Given the description of an element on the screen output the (x, y) to click on. 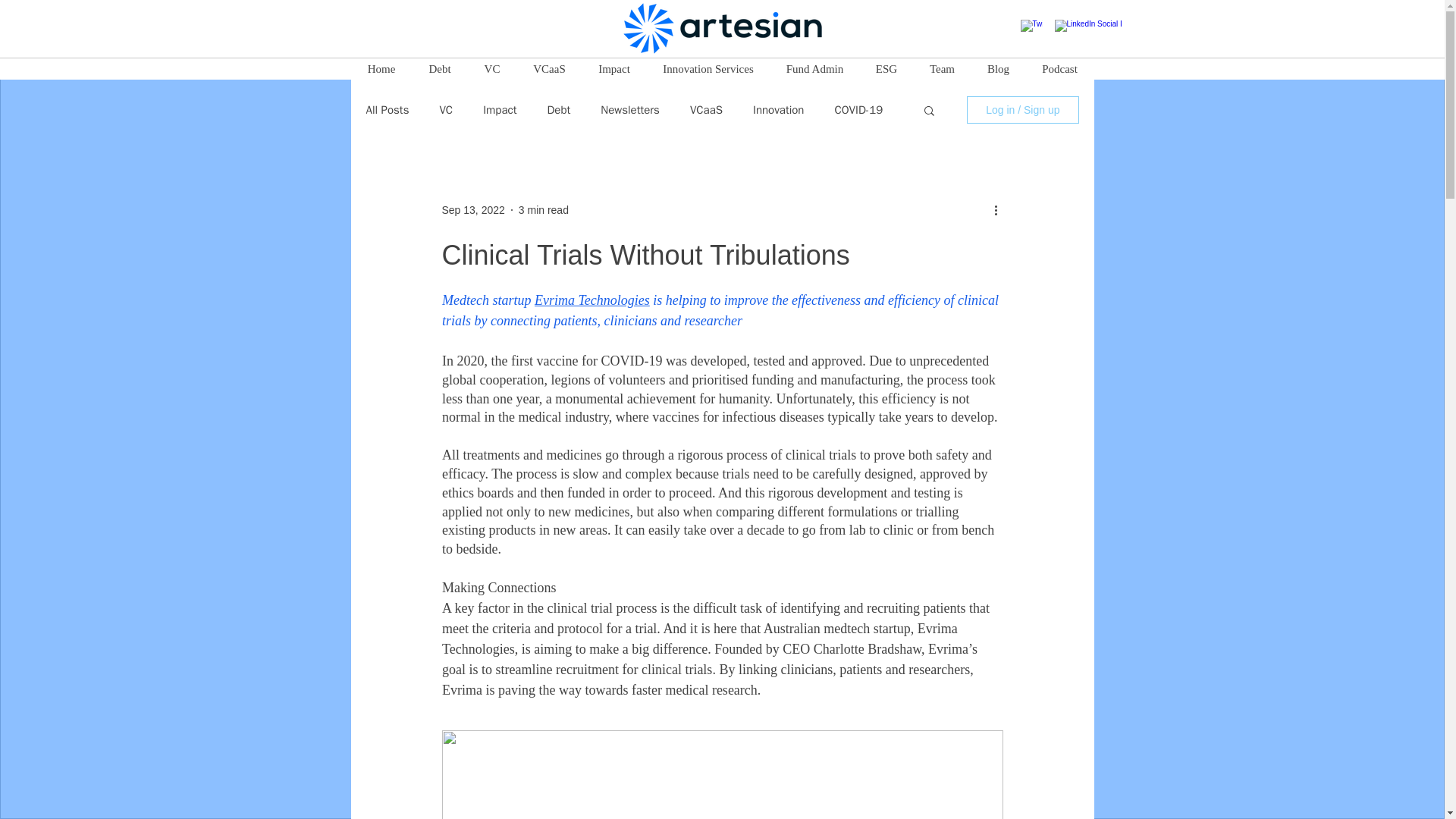
Sep 13, 2022 (472, 209)
Newsletters (629, 110)
VCaaS (706, 110)
Podcast (1059, 68)
Blog (998, 68)
Team (941, 68)
Impact (499, 110)
All Posts (387, 110)
3 min read (543, 209)
ESG (887, 68)
VC (445, 110)
Fund Admin (815, 68)
Innovation (777, 110)
Home (381, 68)
Debt (558, 110)
